Given the description of an element on the screen output the (x, y) to click on. 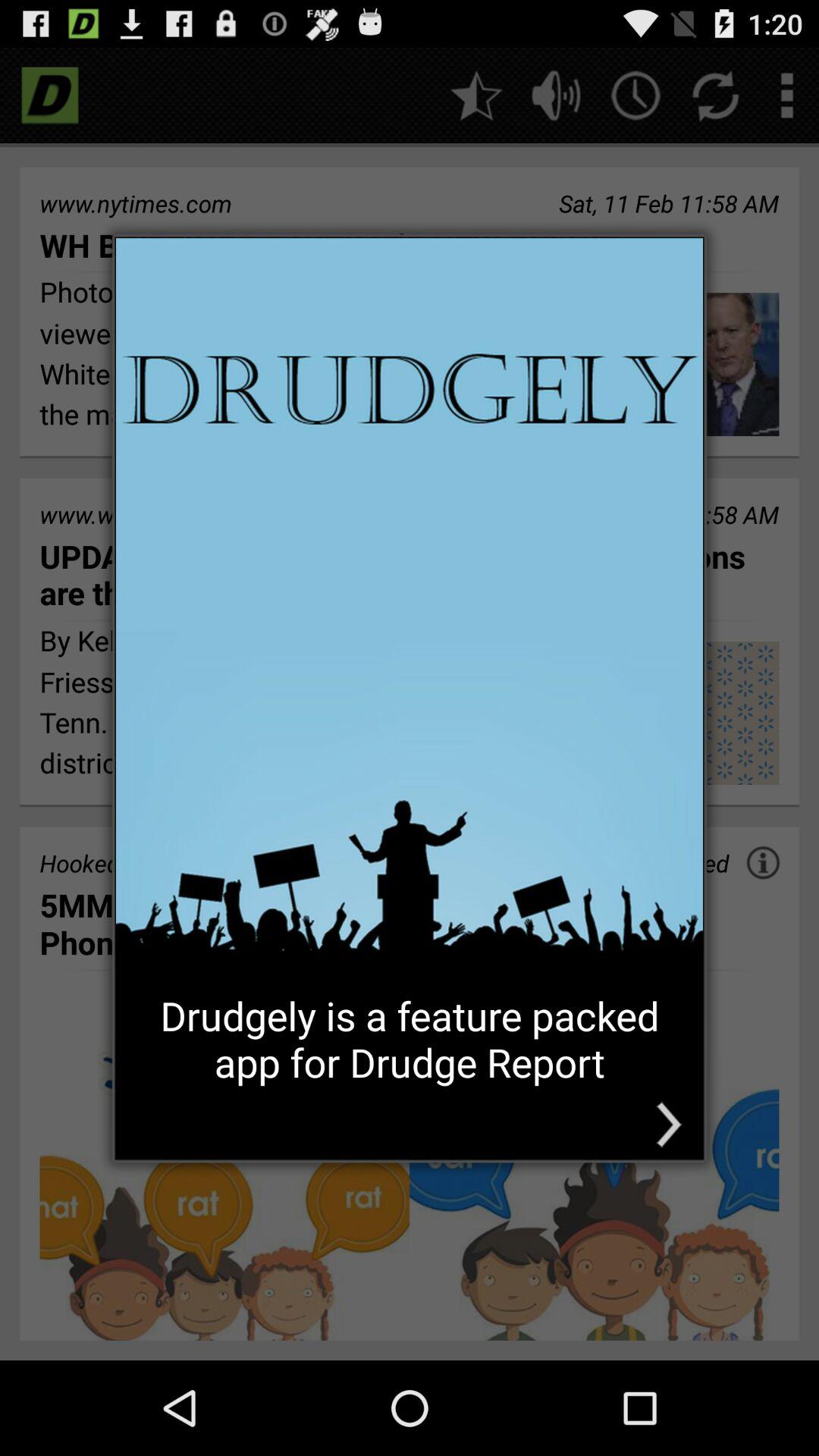
launch the icon at the bottom right corner (668, 1124)
